Given the description of an element on the screen output the (x, y) to click on. 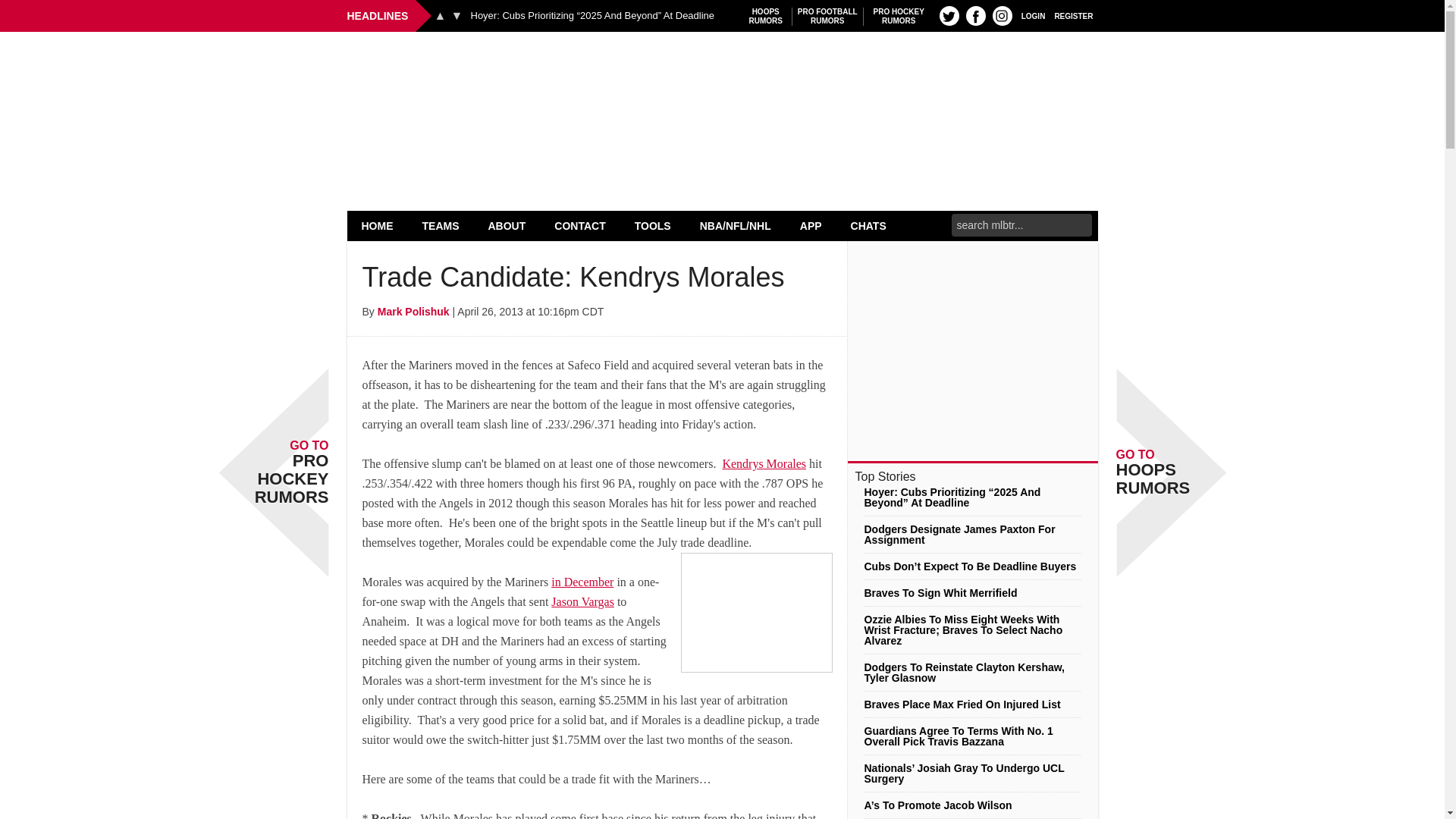
MLB Trade Rumors (722, 69)
Next (456, 15)
TEAMS (440, 225)
Instagram profile (827, 16)
Twitter profile (765, 16)
HOME (1001, 15)
FB profile (949, 15)
LOGIN (377, 225)
Search (975, 15)
REGISTER (1032, 15)
Previous (898, 16)
